Given the description of an element on the screen output the (x, y) to click on. 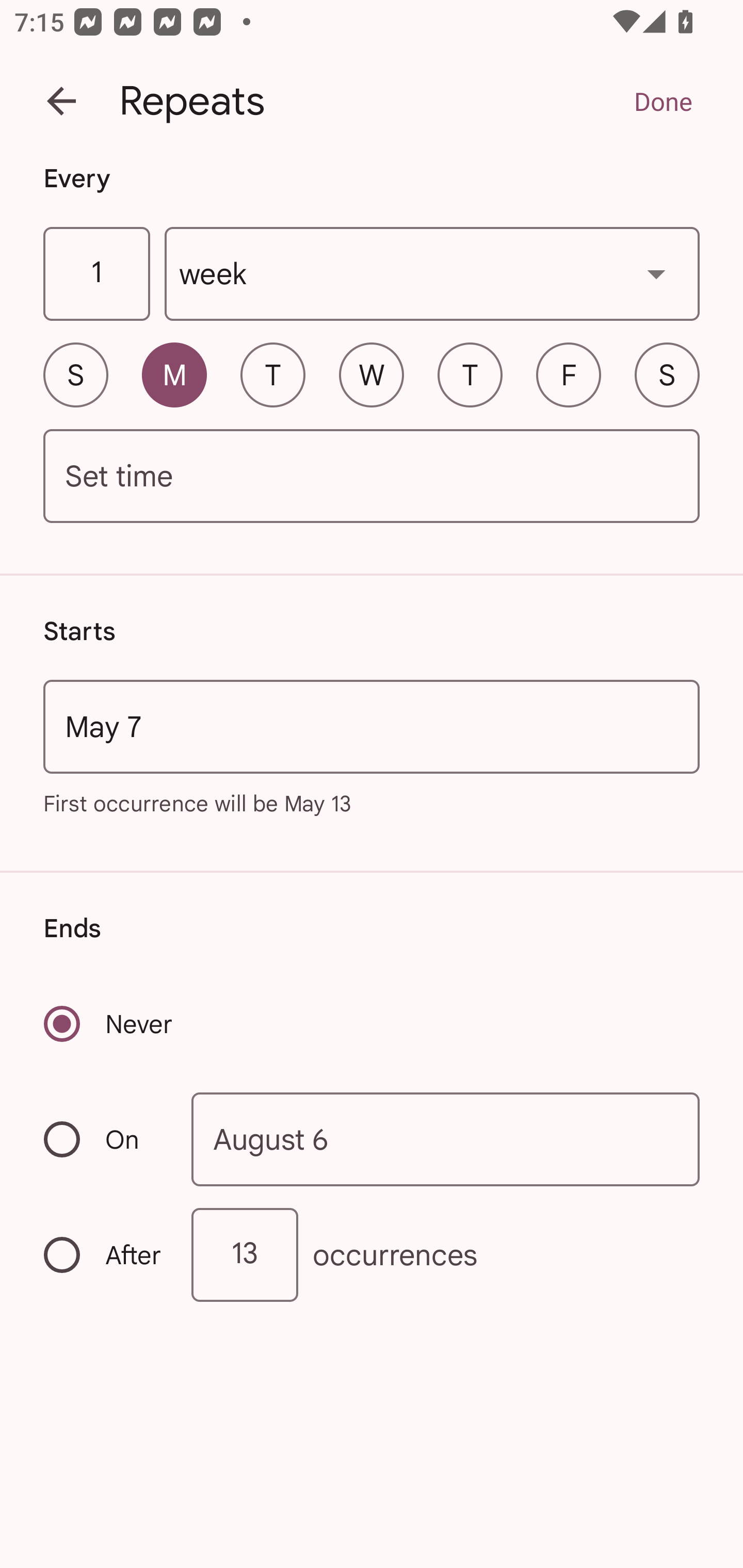
Back (61, 101)
Done (663, 101)
1 (96, 274)
week (431, 274)
Show dropdown menu (655, 273)
S Sunday (75, 374)
M Monday, selected (173, 374)
T Tuesday (272, 374)
W Wednesday (371, 374)
T Thursday (469, 374)
F Friday (568, 374)
S Saturday (666, 374)
Set time (371, 476)
May 7 (371, 726)
Never Recurrence never ends (109, 1023)
August 6 (445, 1139)
On Recurrence ends on a specific date (104, 1138)
13 (244, 1254)
